Given the description of an element on the screen output the (x, y) to click on. 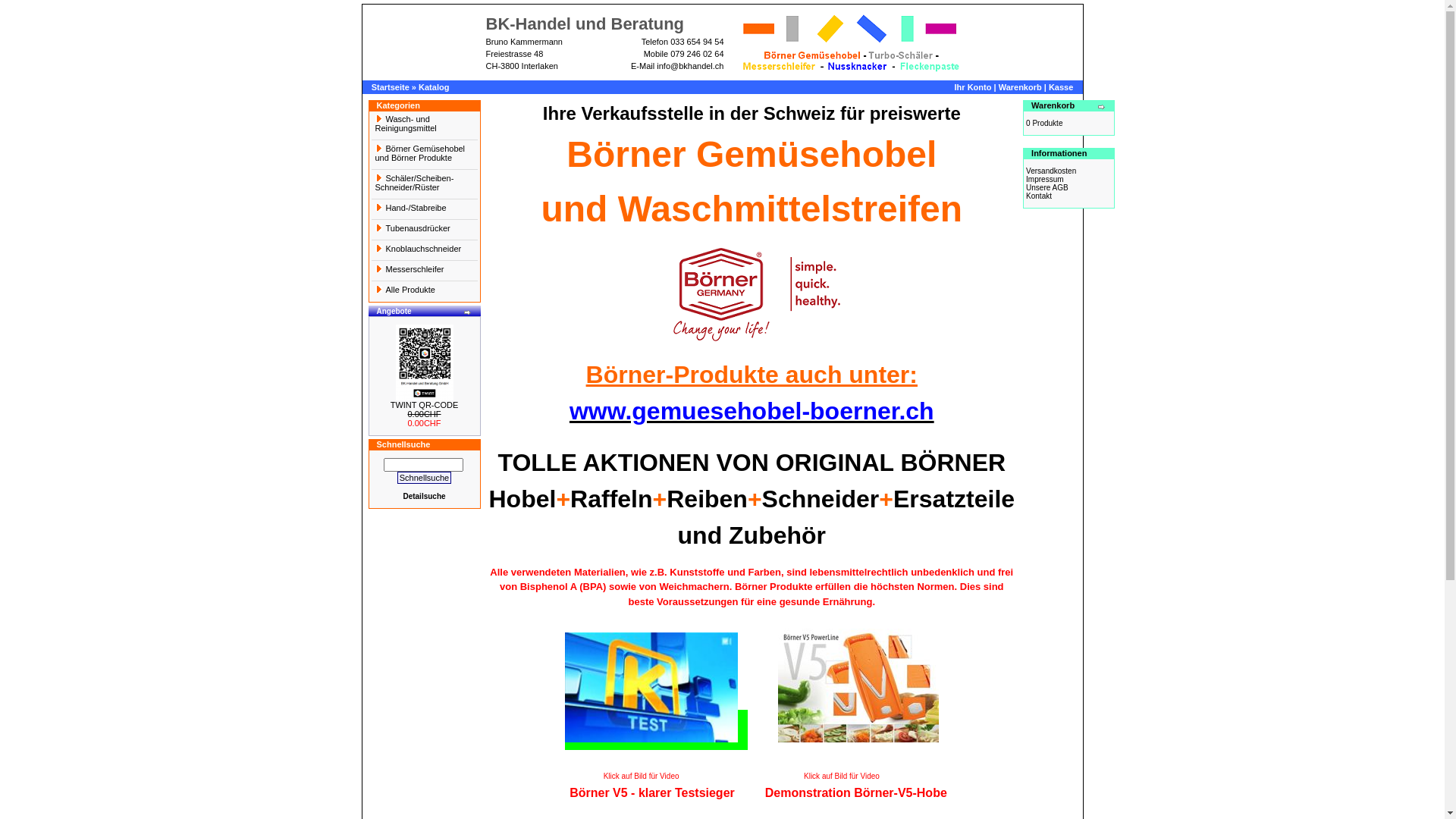
Alle Produkte Element type: text (424, 290)
info@bkhandel.ch Element type: text (689, 65)
Hand-/Stabreibe Element type: text (424, 208)
Ihr Konto Element type: text (972, 86)
Impressum Element type: text (1044, 179)
 Zeige mehr  Element type: hover (466, 312)
 TWINT QR-CODE  Element type: hover (424, 362)
Knoblauchschneider Element type: text (424, 249)
K_Test.jpg Element type: hover (650, 687)
Wasch- und Reinigungsmittel Element type: text (424, 125)
Messerschleifer Element type: text (424, 270)
Warenkorb Element type: text (1019, 86)
Kasse Element type: text (1060, 86)
Schnellsuche Element type: text (424, 477)
Unsere AGB Element type: text (1047, 187)
 Zeige mehr  Element type: hover (1101, 106)
logo_Borner20.png Element type: hover (756, 294)
Detailsuche Element type: text (423, 496)
TWINT QR-CODE Element type: text (424, 404)
Startseite Element type: text (390, 86)
Katalog Element type: text (433, 86)
Kontakt Element type: text (1038, 195)
Versandkosten Element type: text (1051, 170)
Bildplakat_V5_orange - Kopie.jpg Element type: hover (858, 685)
www.gemuesehobel-boerner.ch Element type: text (751, 410)
